Given the description of an element on the screen output the (x, y) to click on. 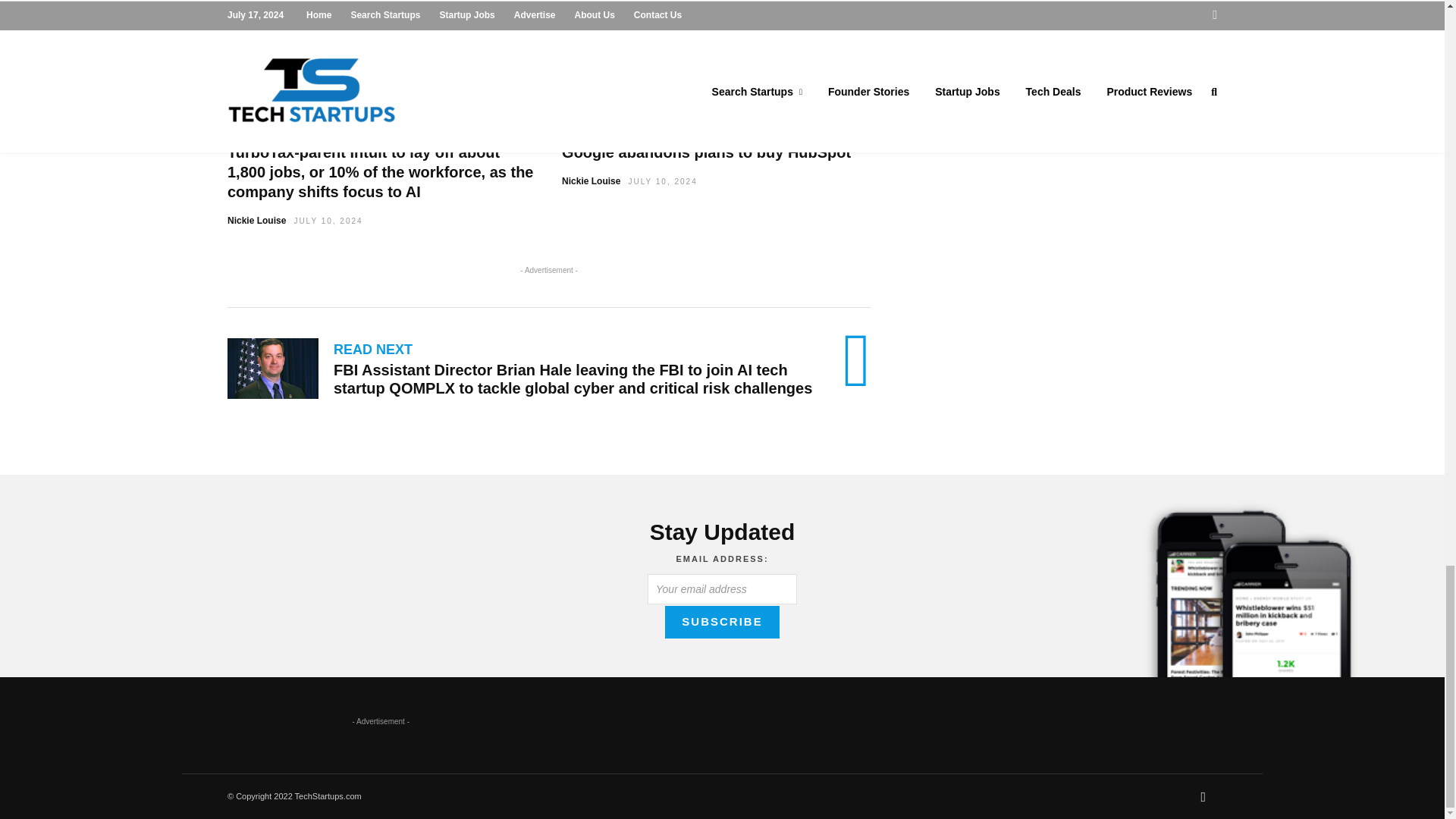
Subscribe (721, 622)
